Given the description of an element on the screen output the (x, y) to click on. 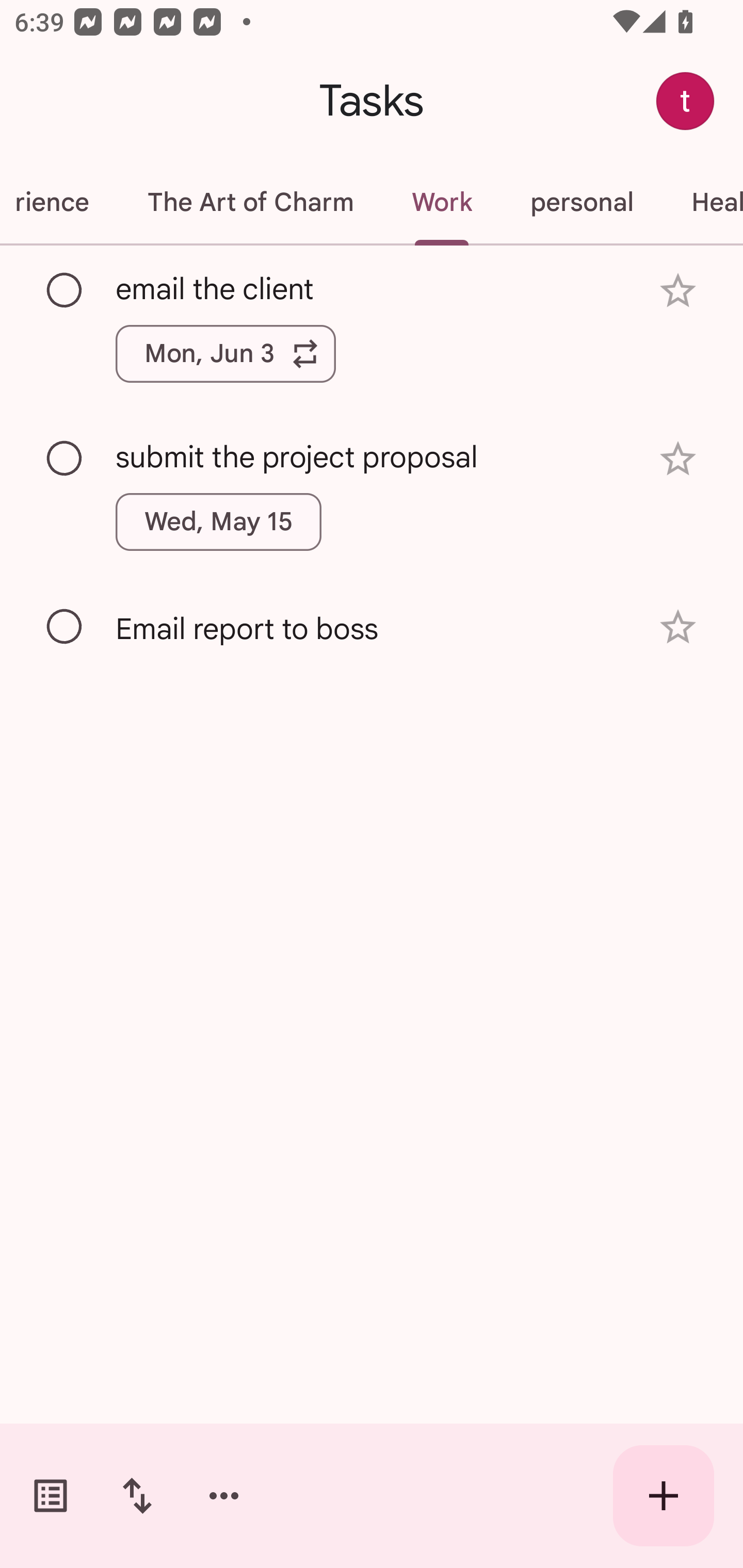
The Joe Rogan Experience (59, 202)
The Art of Charm (250, 202)
personal (581, 202)
Add star (677, 290)
Mark as complete (64, 290)
Mon, Jun 3 (225, 353)
Add star (677, 458)
Mark as complete (64, 459)
Wed, May 15 (218, 522)
Add star (677, 627)
Mark as complete (64, 627)
Switch task lists (50, 1495)
Create new task (663, 1495)
Change sort order (136, 1495)
More options (223, 1495)
